Given the description of an element on the screen output the (x, y) to click on. 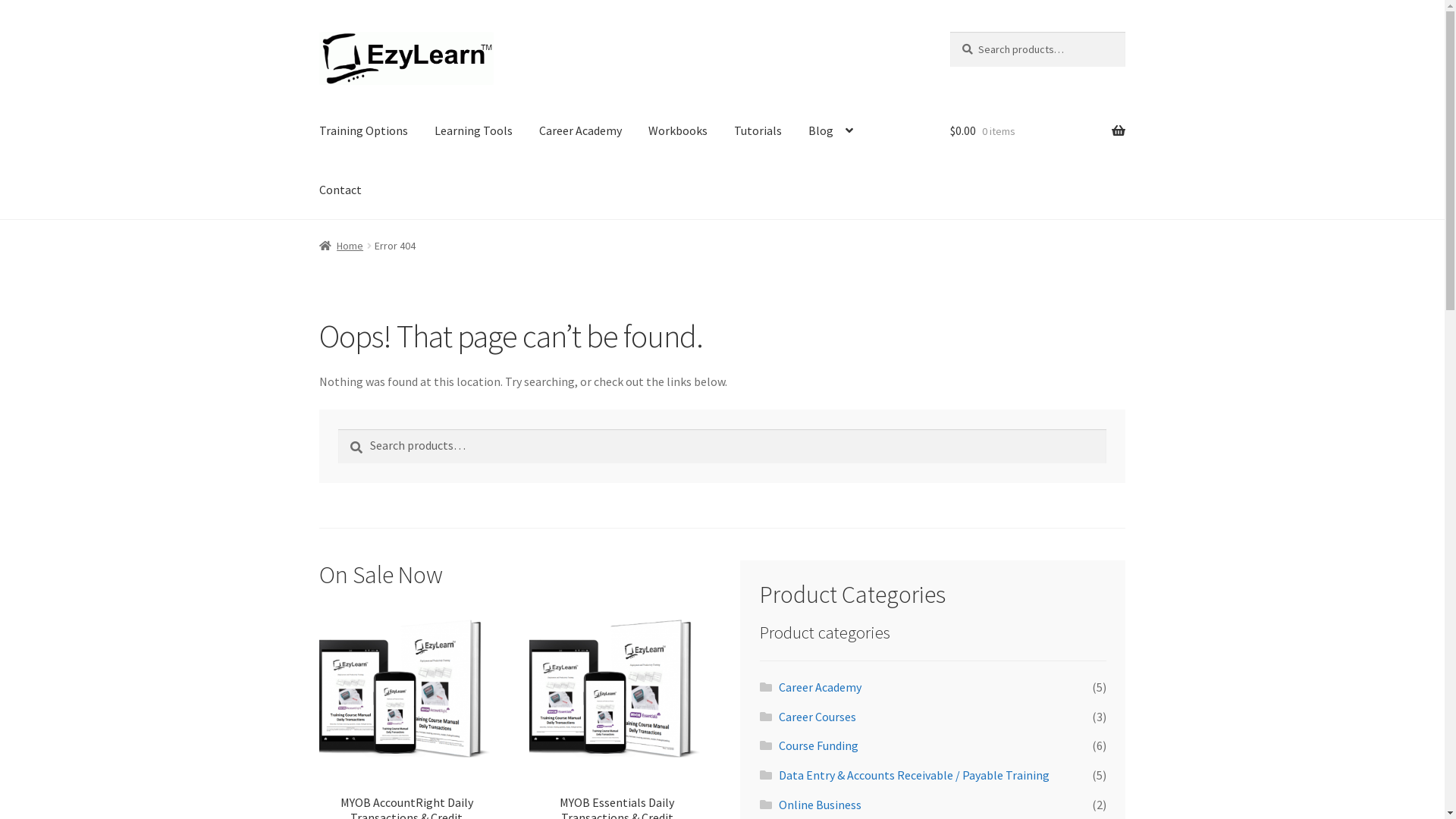
Contact Element type: text (340, 189)
Career Academy Element type: text (580, 130)
Career Academy Element type: text (819, 686)
Data Entry & Accounts Receivable / Payable Training Element type: text (913, 774)
Workbooks Element type: text (677, 130)
Career Courses Element type: text (817, 716)
Search Element type: text (949, 31)
Tutorials Element type: text (757, 130)
Search Element type: text (337, 427)
Blog Element type: text (830, 130)
Skip to navigation Element type: text (318, 31)
Learning Tools Element type: text (473, 130)
Course Funding Element type: text (818, 745)
$0.00 0 items Element type: text (1037, 130)
Training Options Element type: text (363, 130)
Home Element type: text (341, 245)
Online Business Element type: text (819, 804)
